Given the description of an element on the screen output the (x, y) to click on. 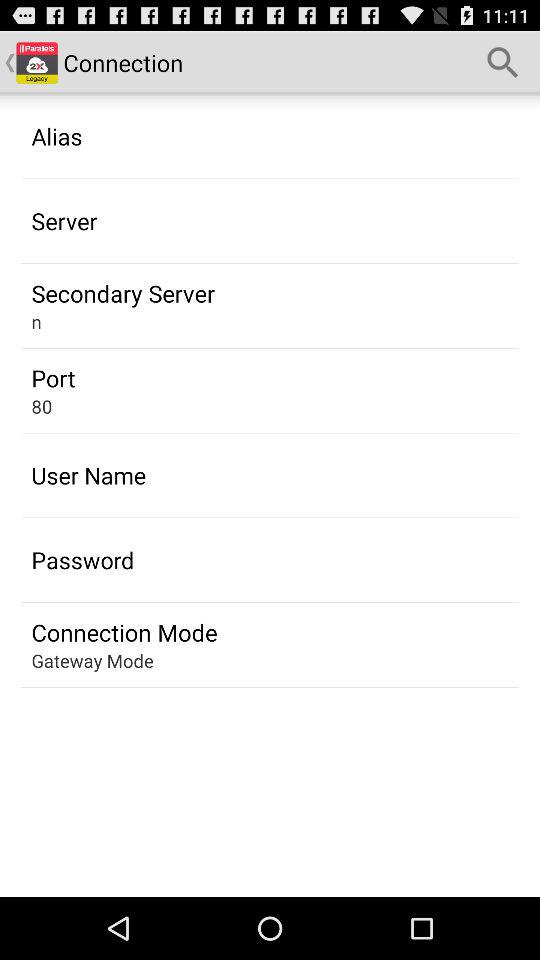
press icon below the secondary server item (36, 321)
